Given the description of an element on the screen output the (x, y) to click on. 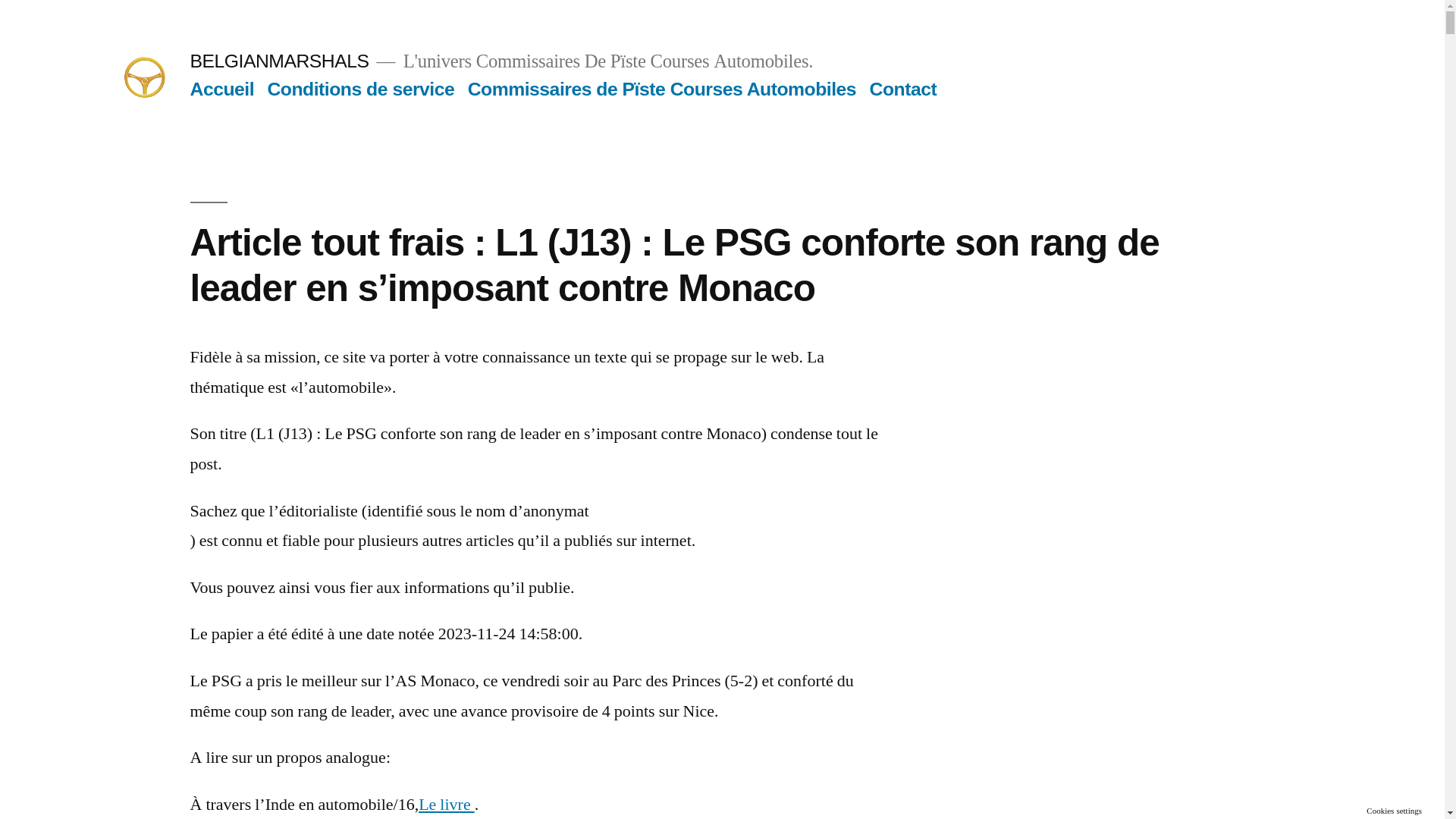
Accueil Element type: text (221, 88)
BELGIANMARSHALS Element type: text (278, 60)
Contact Element type: text (903, 88)
Conditions de service Element type: text (360, 88)
Le livre Element type: text (446, 804)
